Given the description of an element on the screen output the (x, y) to click on. 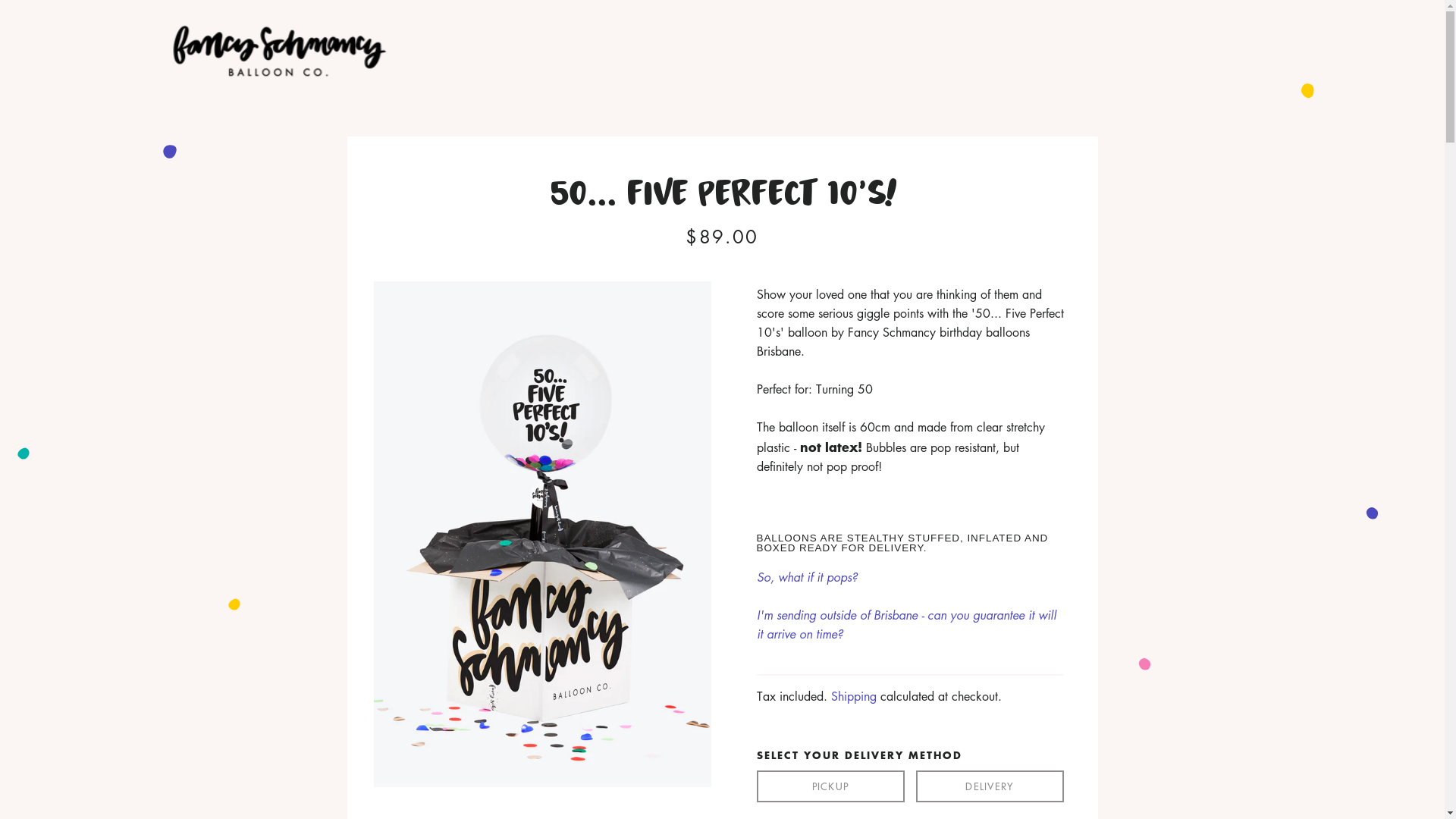
So, what if it pops? Element type: text (806, 576)
Shipping Element type: text (853, 695)
